Given the description of an element on the screen output the (x, y) to click on. 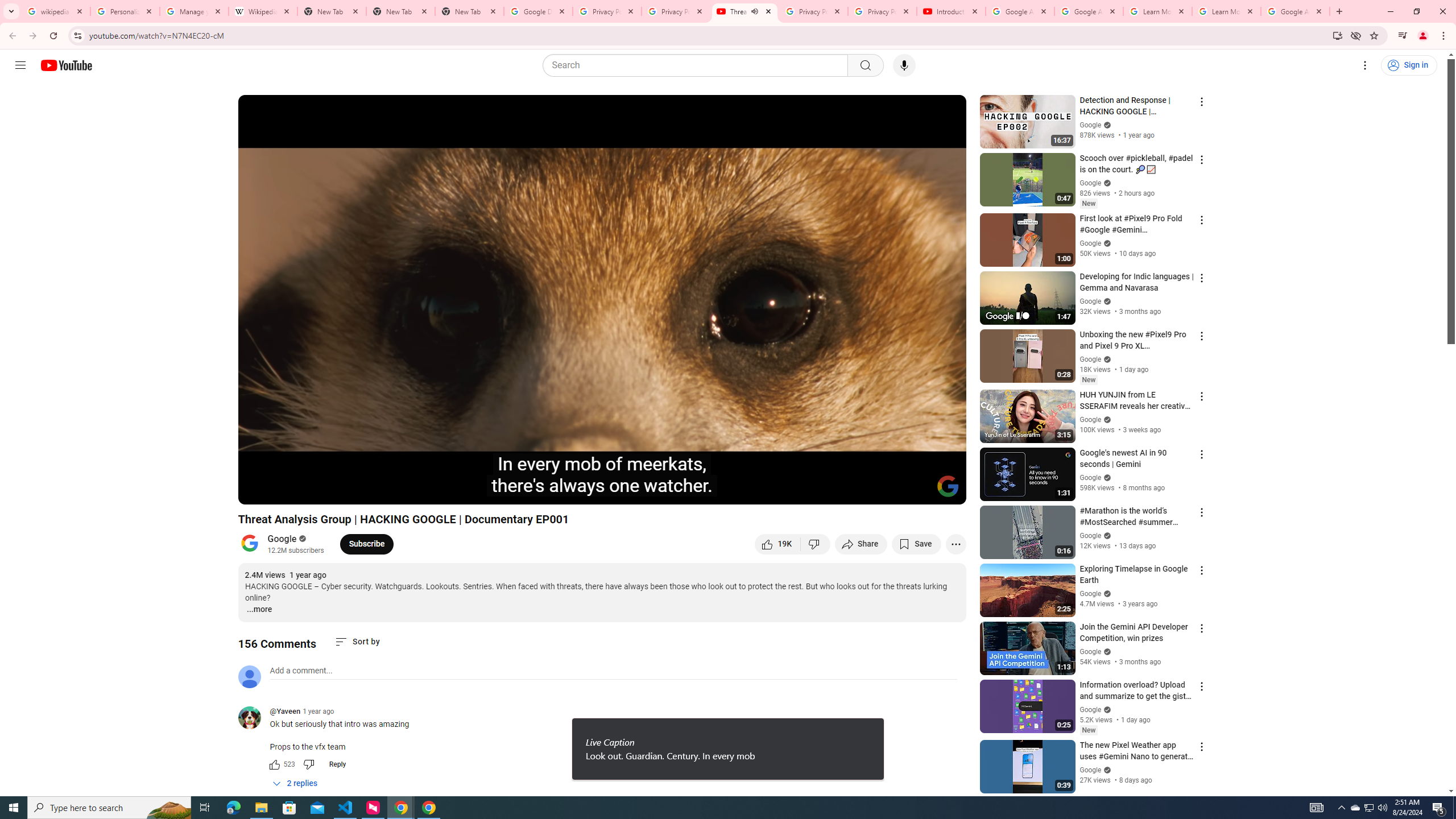
Google Drive: Sign-in (538, 11)
AutomationID: simplebox-placeholder (301, 670)
Sort comments (357, 641)
Manage your Location History - Google Search Help (194, 11)
Guide (20, 65)
@Yaveen (285, 711)
New Tab (469, 11)
Save to playlist (915, 543)
